Given the description of an element on the screen output the (x, y) to click on. 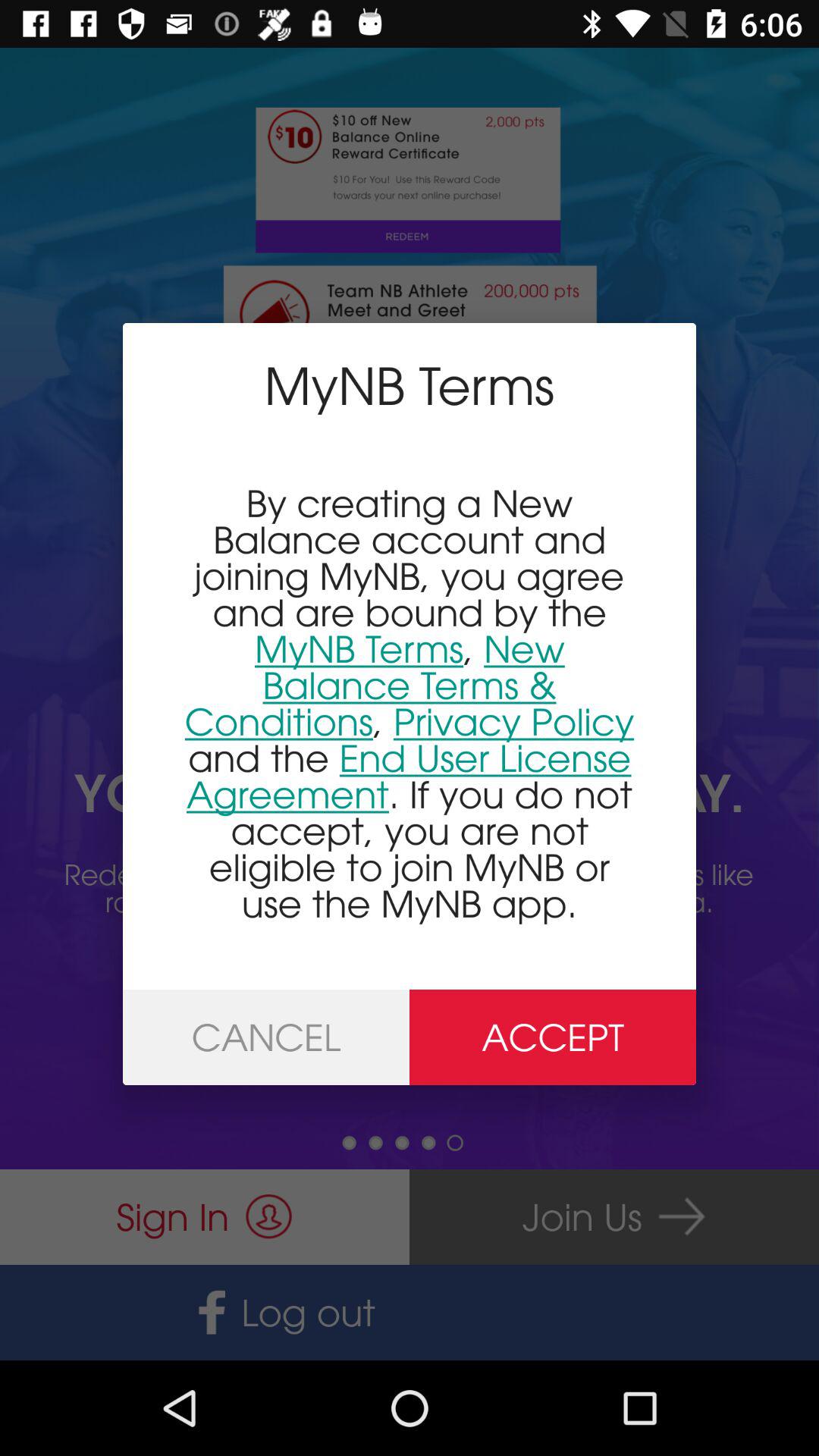
launch the icon below by creating a (265, 1037)
